Given the description of an element on the screen output the (x, y) to click on. 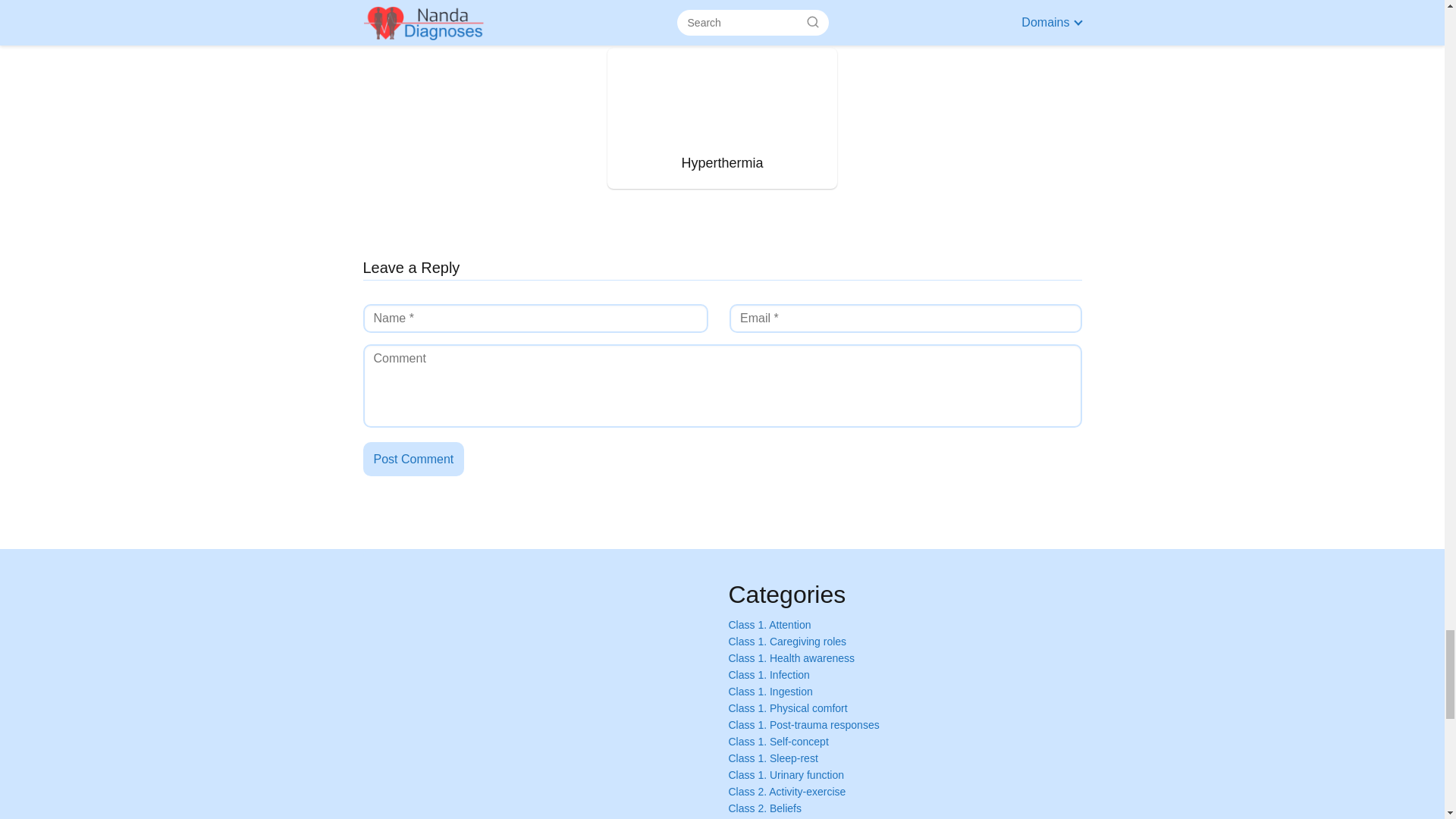
Post Comment (413, 459)
